Given the description of an element on the screen output the (x, y) to click on. 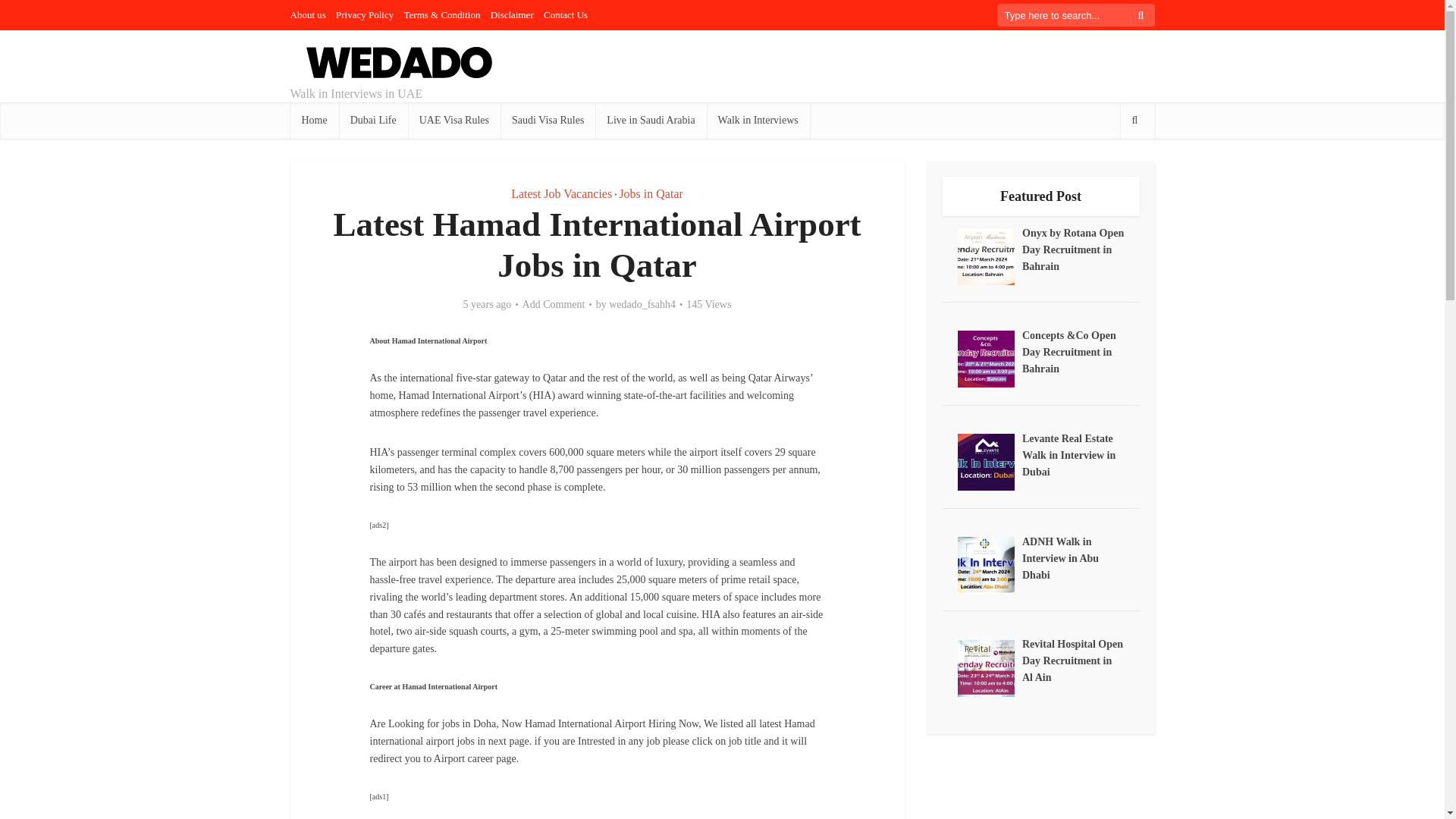
About us (306, 14)
Dubai Life (373, 120)
Privacy Policy (364, 14)
Jobs in Qatar (650, 192)
Latest Job Vacancies (561, 192)
Saudi Visa Rules (547, 120)
Walk in Interviews (757, 120)
Dubai Life (373, 120)
Contact Us (565, 14)
About us (306, 14)
